Given the description of an element on the screen output the (x, y) to click on. 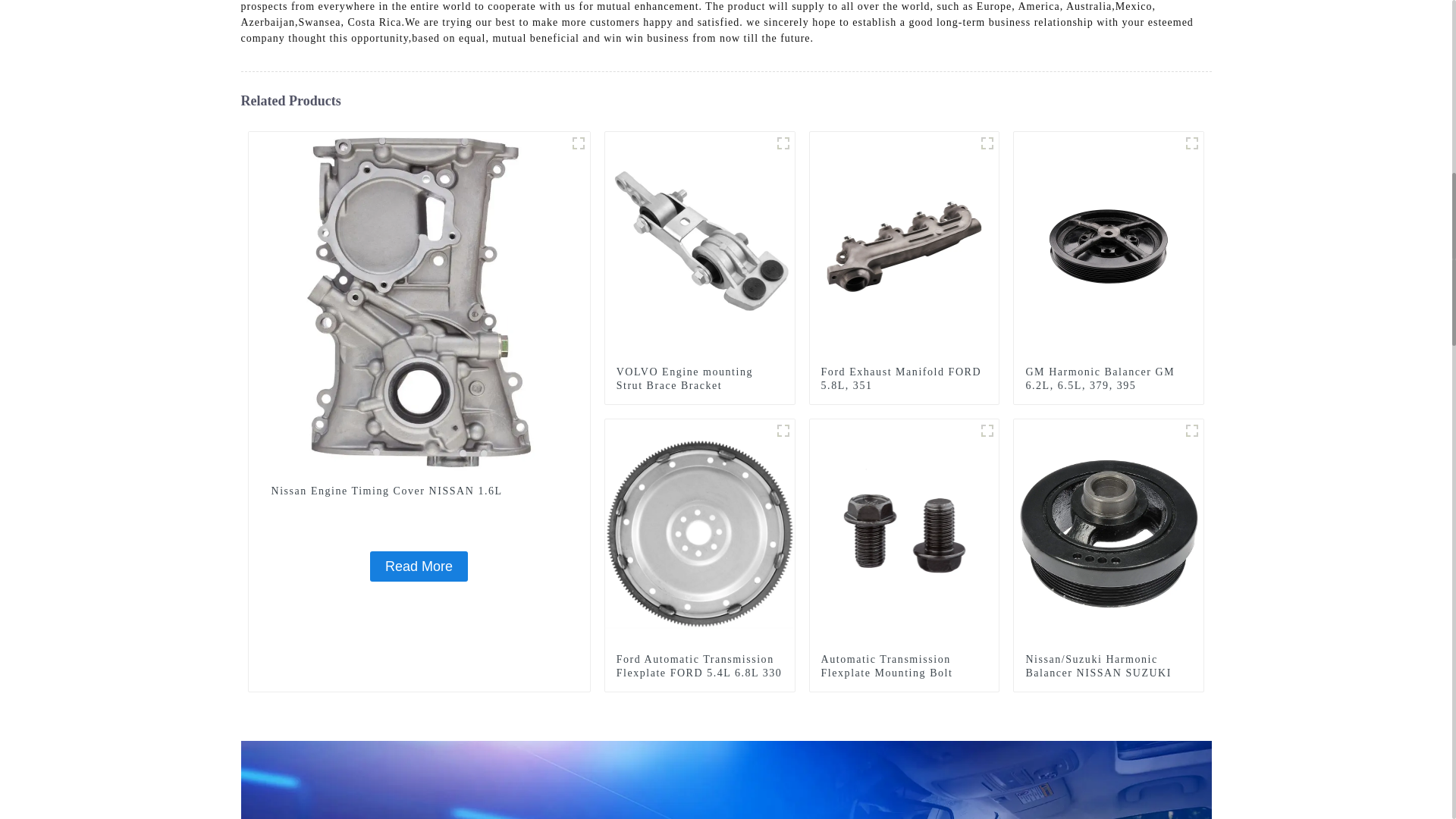
VOLVO Engine mounting Strut Brace Bracket (699, 379)
GM Harmonic Balancer GM 6.2L, 6.5L, 379, 395 (1108, 379)
DSC03666 (986, 142)
Nissan Engine Timing Cover NISSAN 1.6L (418, 490)
Nissan Engine Timing Cover  NISSAN 1.6L (418, 490)
Read More (418, 566)
700274-1 (782, 430)
Ford Exhaust Manifold  FORD 5.8L, 351 (904, 379)
200154-1 (578, 142)
Ford Exhaust Manifold  FORD 5.8L, 351 (903, 245)
